Given the description of an element on the screen output the (x, y) to click on. 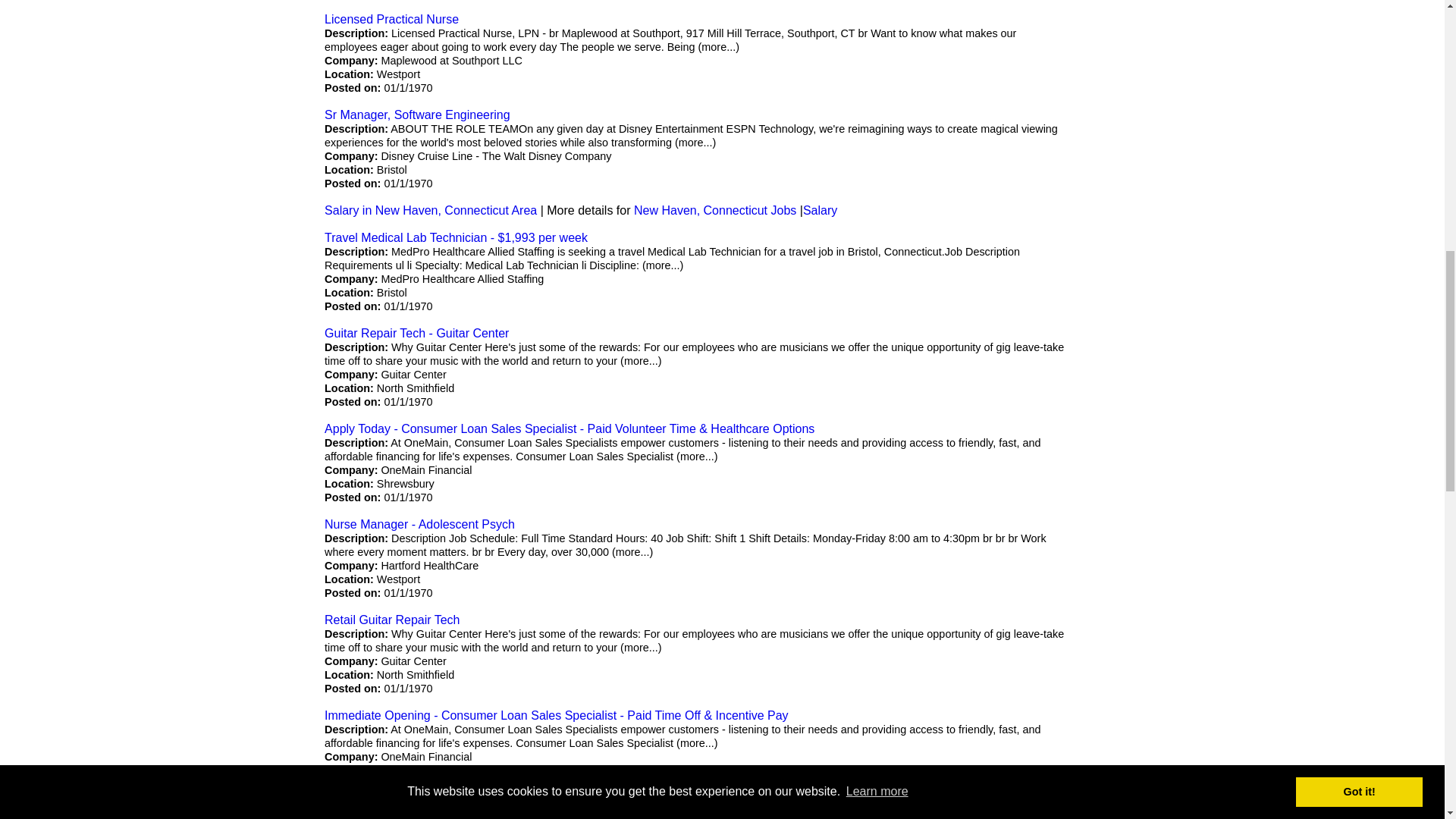
Salary (820, 210)
Licensed Practical Nurse (391, 19)
Consumer Loan Specialist - High School Diploma Only (471, 810)
Sr Manager, Software Engineering (417, 114)
Nurse Manager - Adolescent Psych (419, 523)
Guitar Repair Tech - Guitar Center (416, 332)
Sr Manager, Software Engineering (417, 114)
Licensed Practical Nurse (391, 19)
New Haven, Connecticut Jobs (714, 210)
Salary in New Haven, Connecticut Area (430, 210)
Retail Guitar Repair Tech (392, 619)
